Given the description of an element on the screen output the (x, y) to click on. 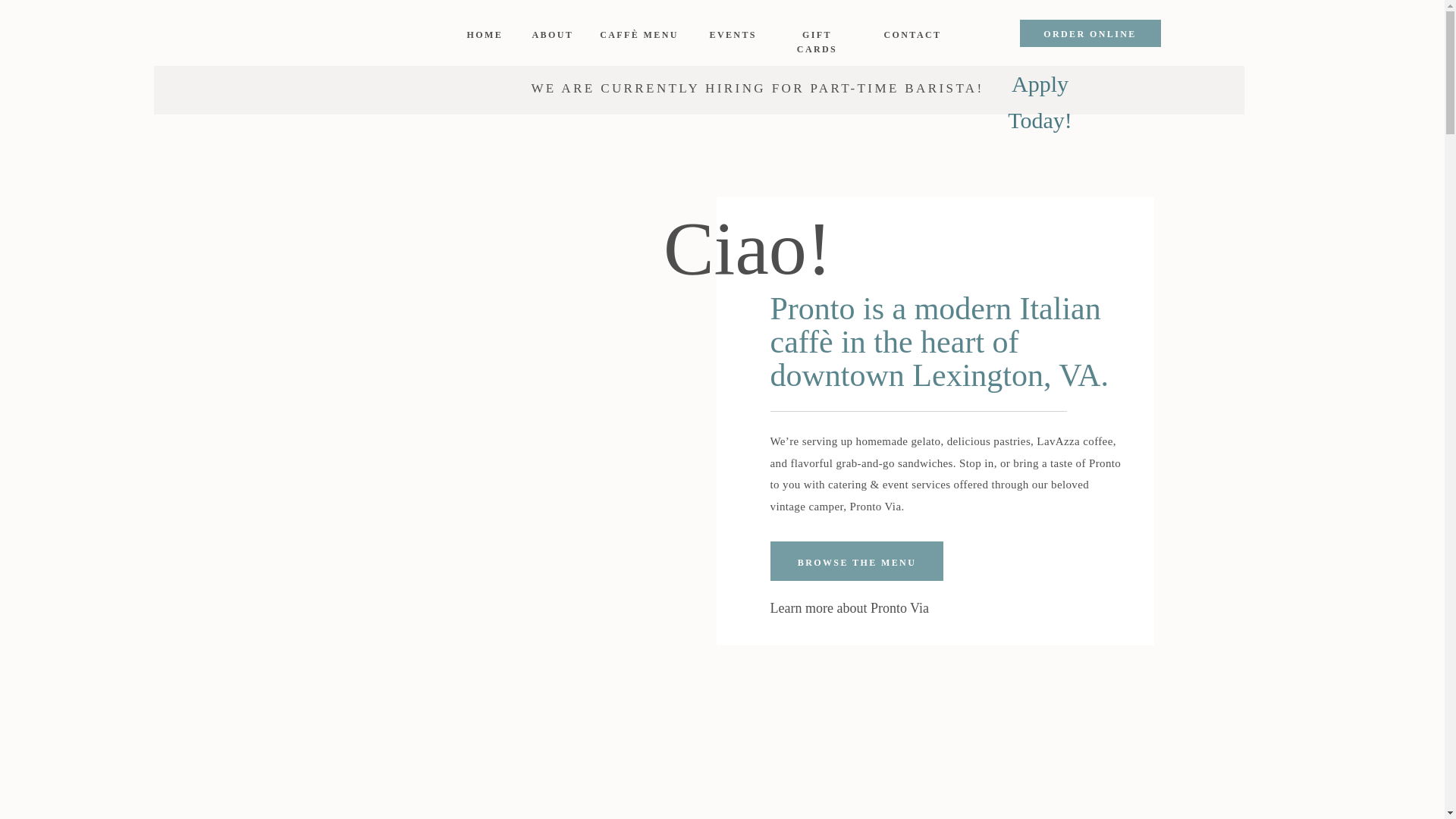
Apply Today! (1039, 87)
GIFT CARDS (816, 32)
EVENTS (730, 34)
ORDER ONLINE (1089, 33)
HOME (484, 34)
Learn more about Pronto Via (869, 606)
BROWSE THE MENU (855, 561)
ABOUT (550, 33)
CONTACT (909, 32)
